Given the description of an element on the screen output the (x, y) to click on. 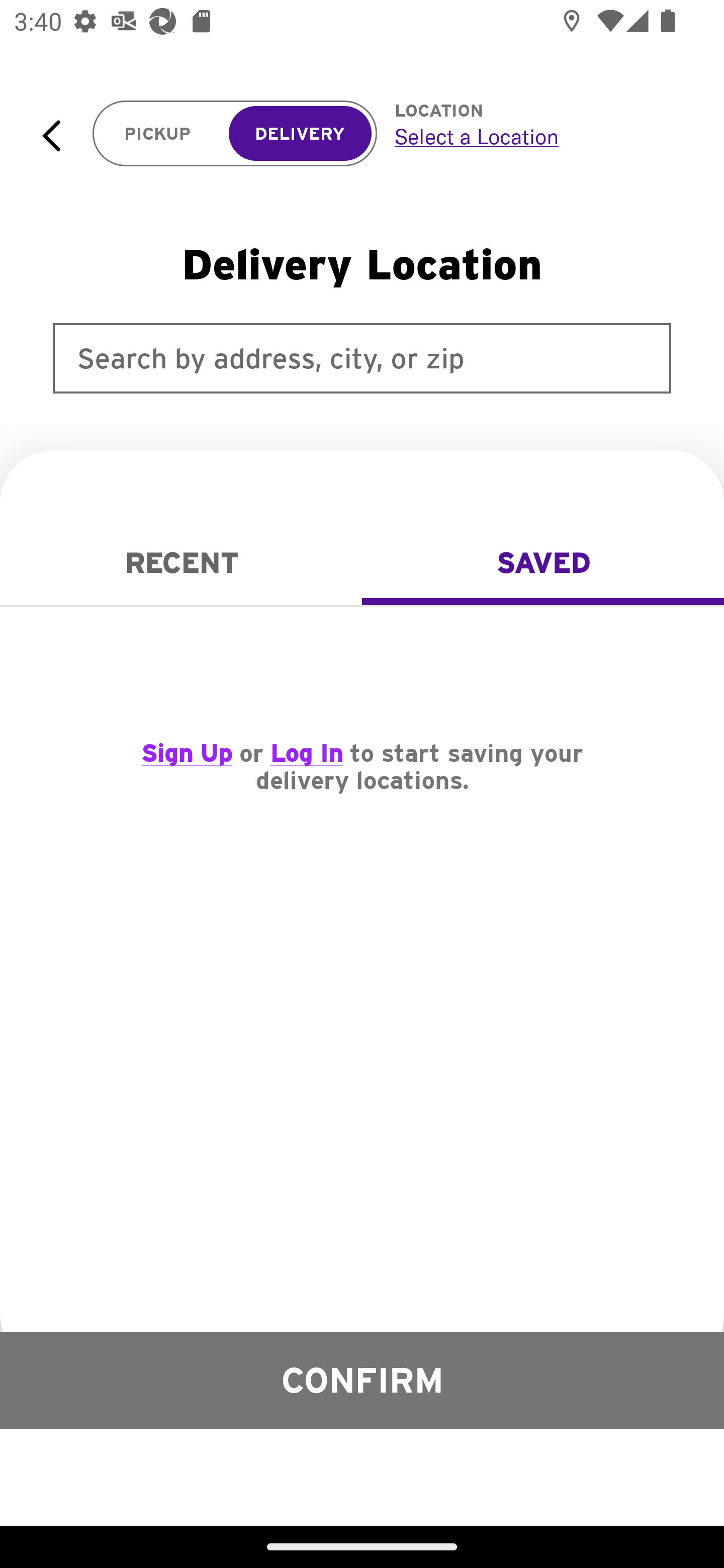
PICKUP (157, 133)
DELIVERY (299, 133)
Select a Location (536, 136)
Search by address, city, or zip (361, 358)
Recent RECENT (181, 562)
CONFIRM (362, 1379)
